Given the description of an element on the screen output the (x, y) to click on. 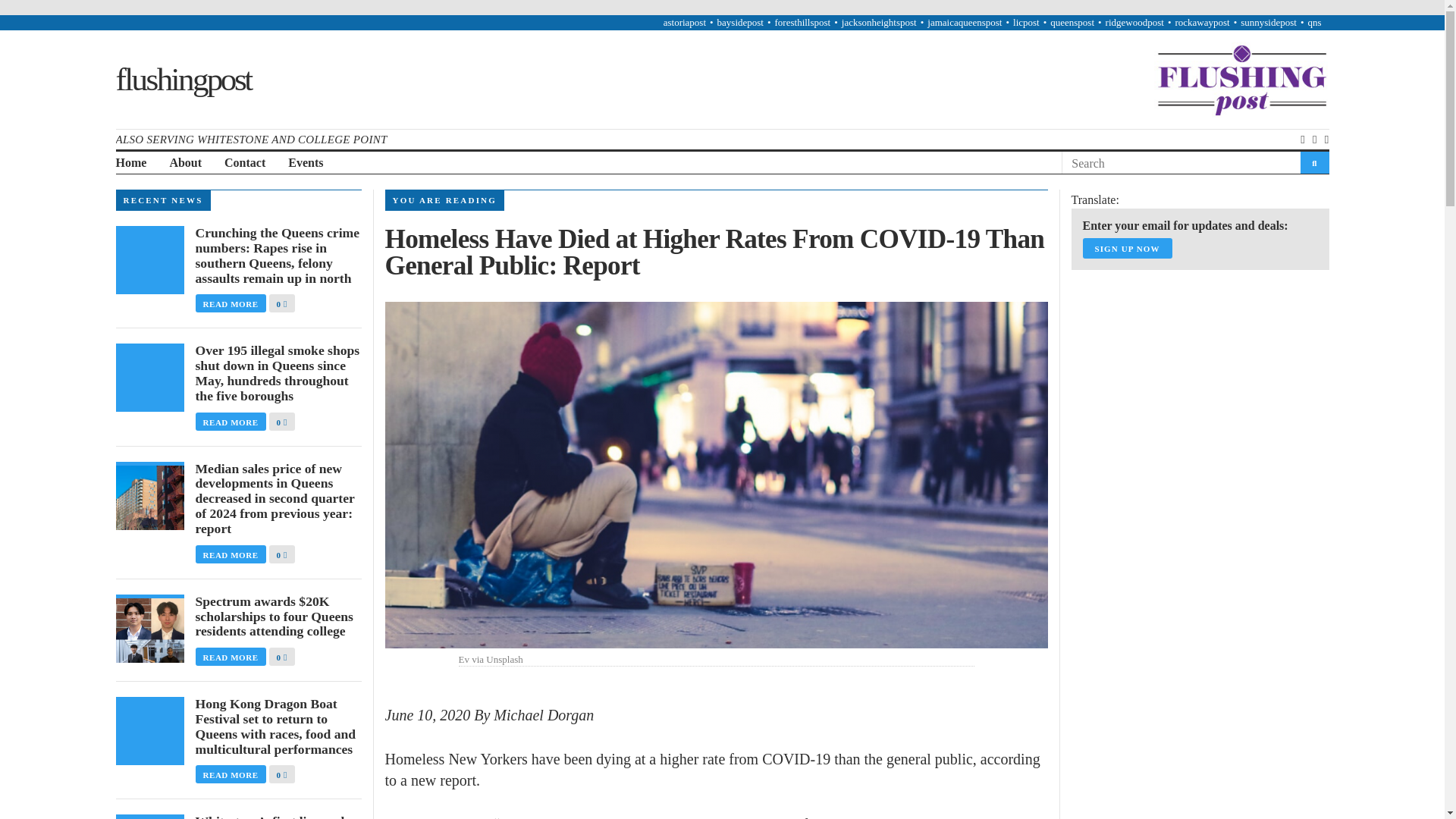
ridgewoodpost (1134, 21)
astoriapost (684, 21)
licpost (1026, 21)
jamaicaqueenspost (964, 21)
queenspost (1071, 21)
sunnysidepost (1268, 21)
jacksonheightspost (879, 21)
About (185, 163)
flushingpost (182, 78)
foresthillspost (802, 21)
Events (305, 163)
Contact (244, 163)
qns (1313, 21)
Home (131, 163)
rockawaypost (1201, 21)
